Given the description of an element on the screen output the (x, y) to click on. 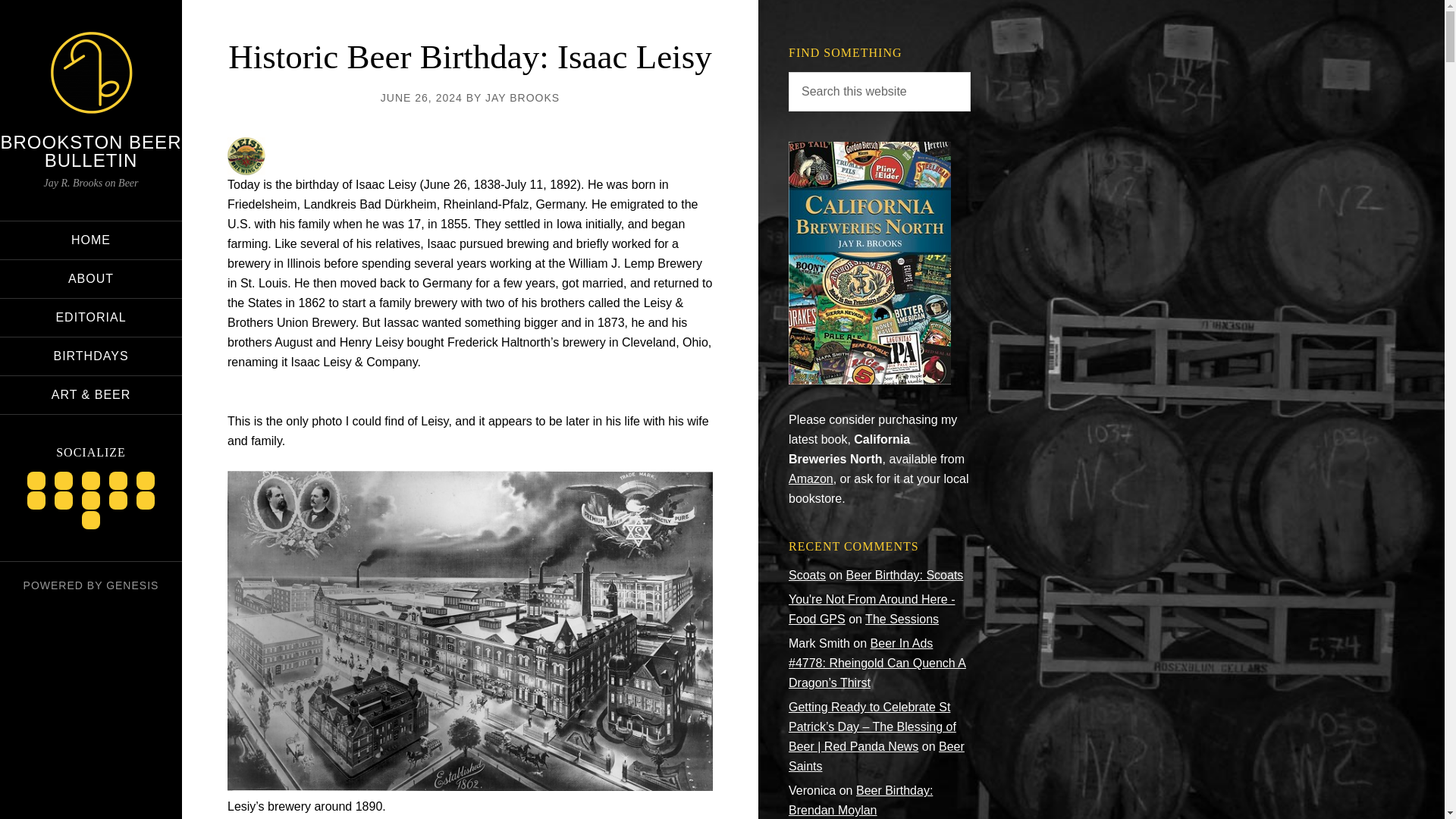
JAY BROOKS (521, 97)
BIRTHDAYS (91, 356)
HOME (91, 240)
Northern California Breweries (869, 379)
Historic Beer Birthday: Isaac Leisy (469, 56)
EDITORIAL (91, 317)
BROOKSTON BEER BULLETIN (91, 150)
ABOUT (91, 279)
